Given the description of an element on the screen output the (x, y) to click on. 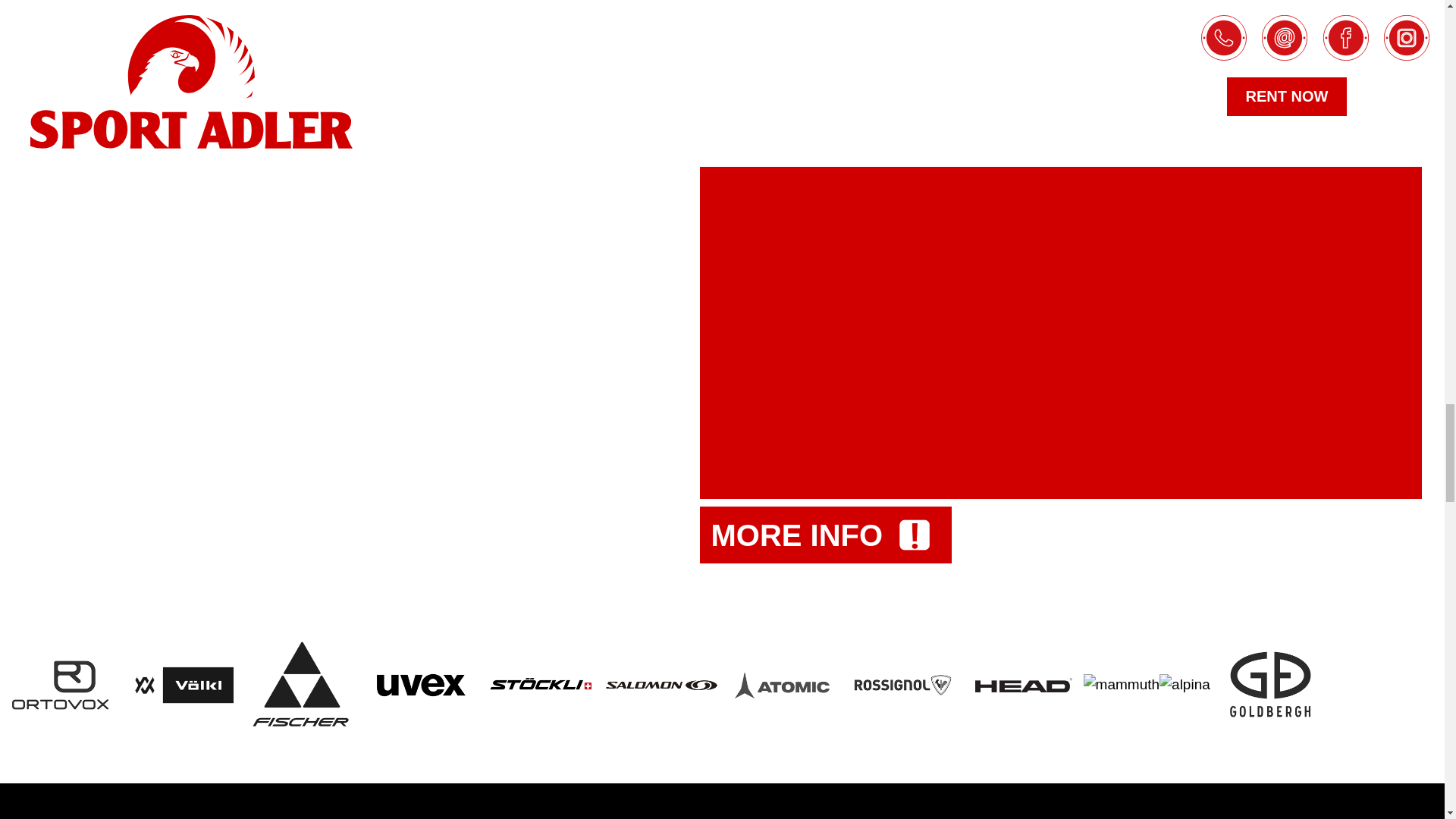
MORE INFO (825, 534)
